Given the description of an element on the screen output the (x, y) to click on. 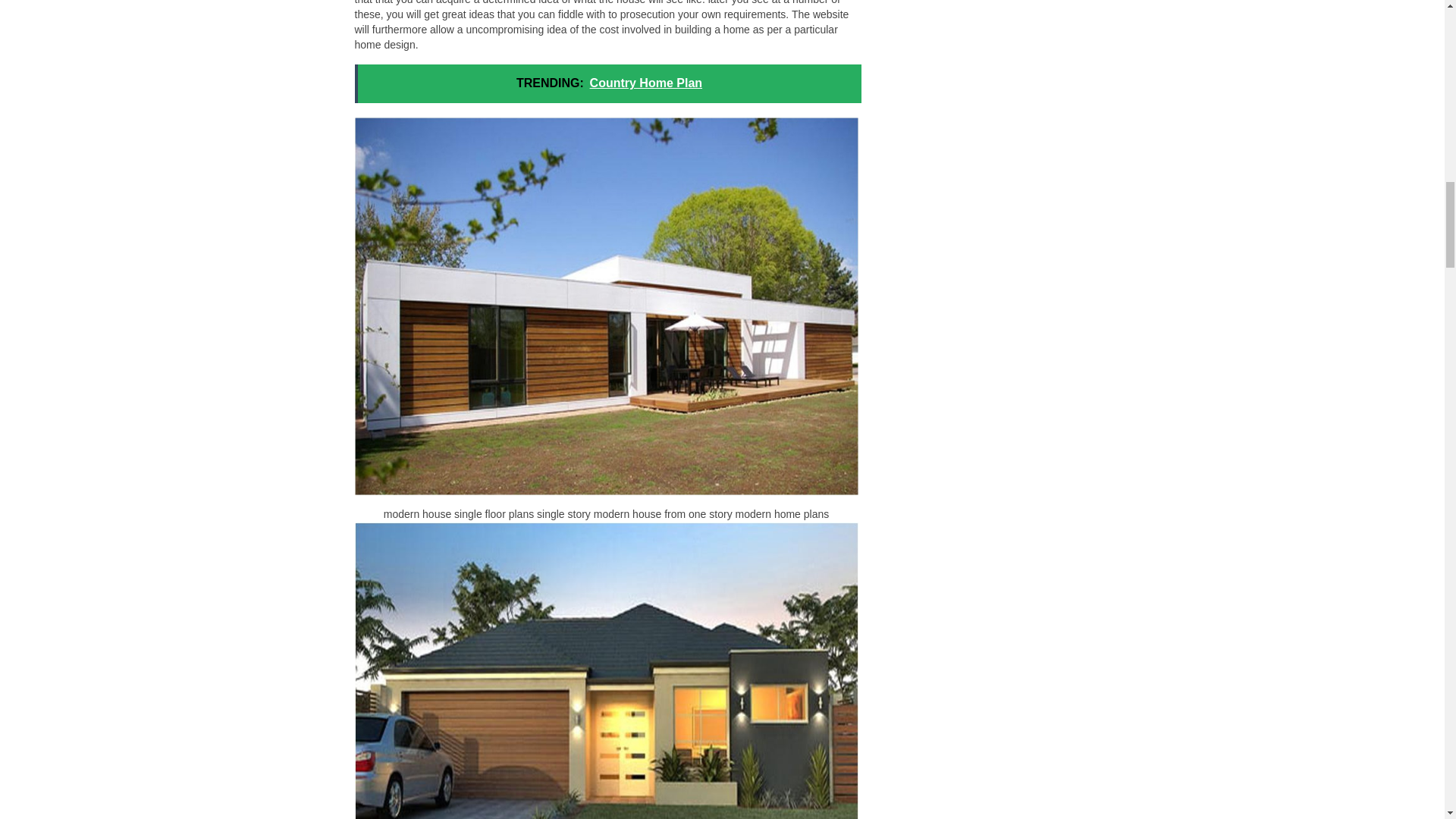
TRENDING:  Country Home Plan (608, 83)
